Given the description of an element on the screen output the (x, y) to click on. 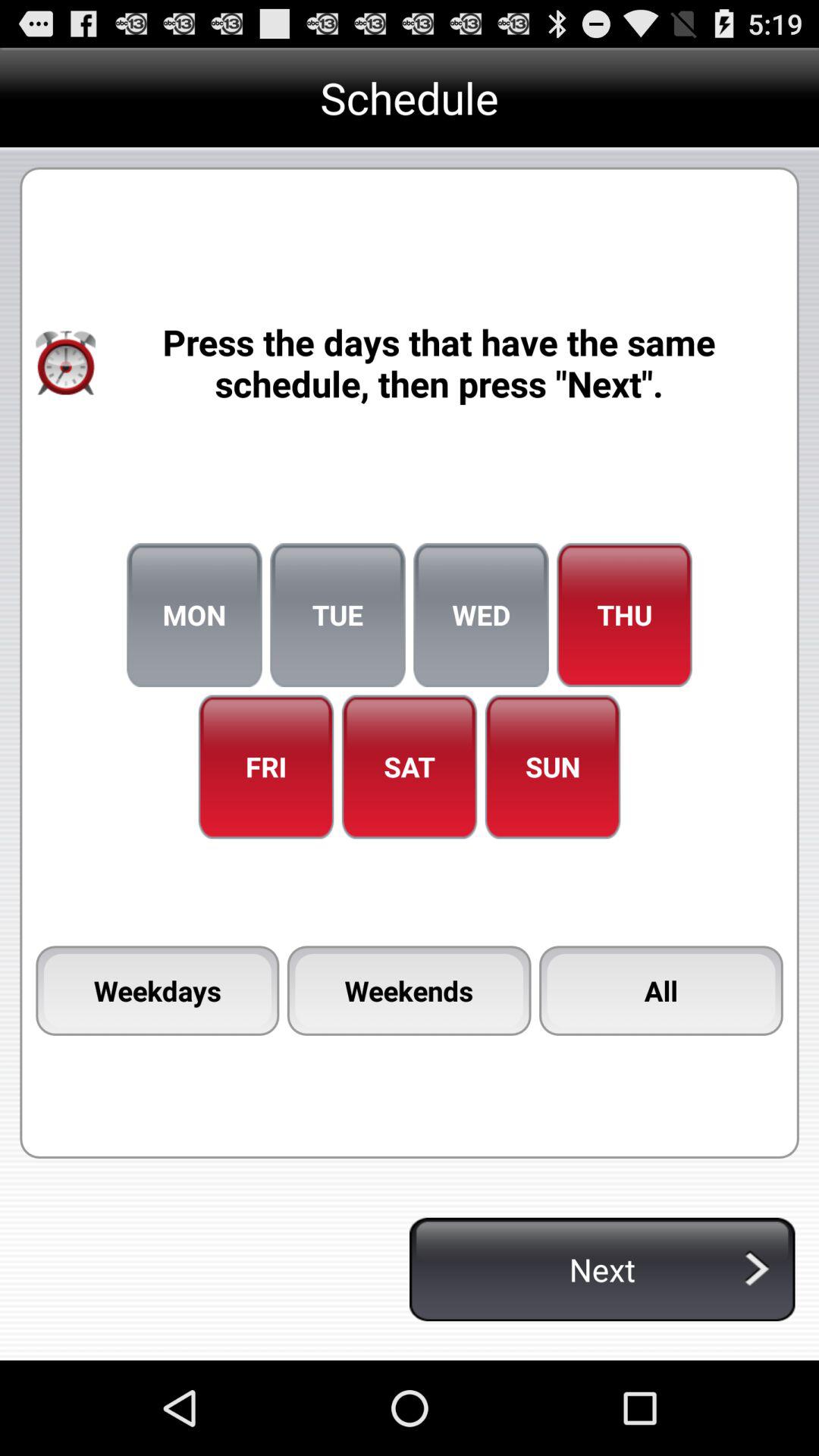
tap the item above weekdays (265, 766)
